Given the description of an element on the screen output the (x, y) to click on. 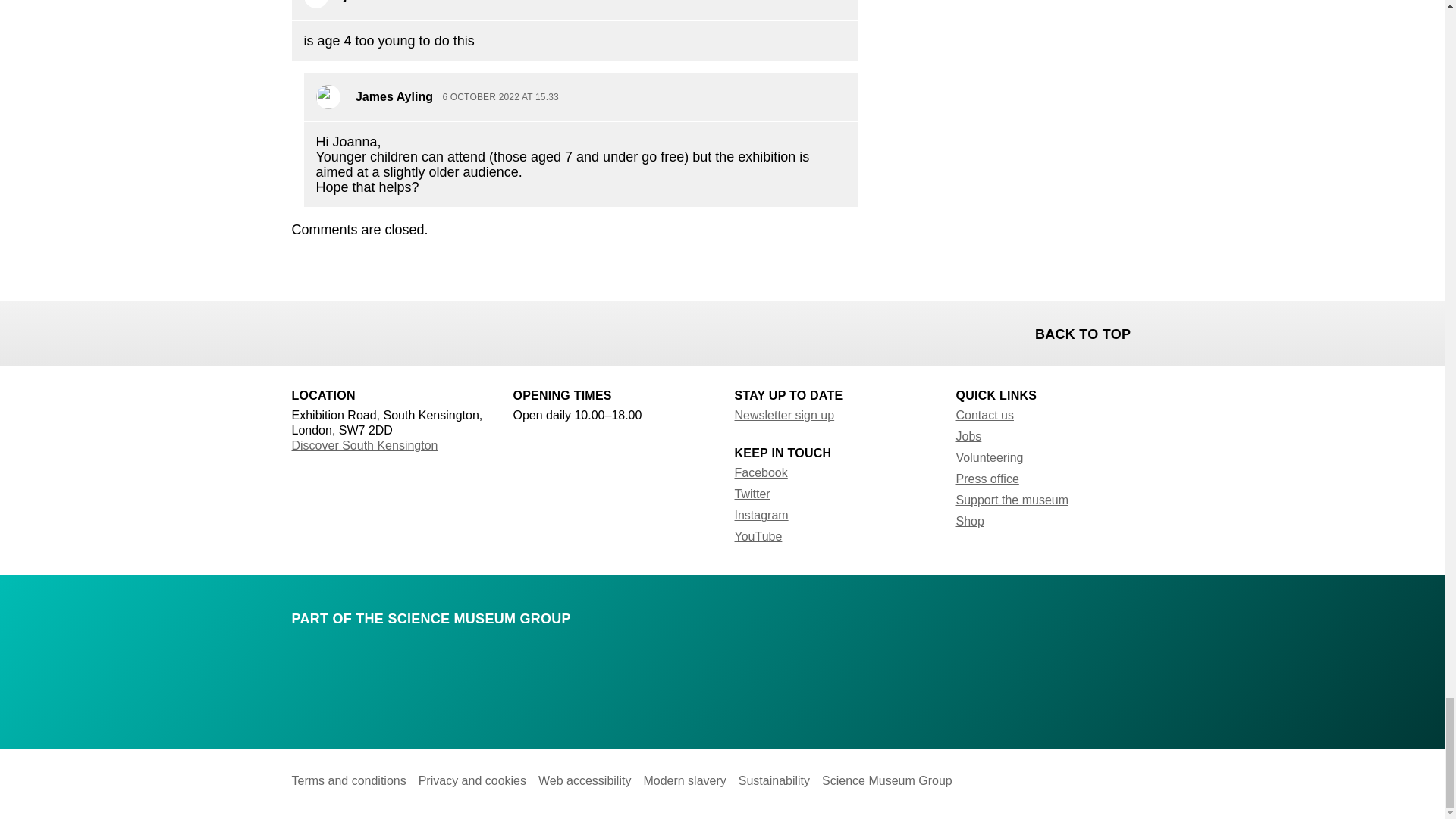
6 OCTOBER 2022 AT 11.44 (449, 0)
Share by email (384, 330)
6 OCTOBER 2022 AT 15.33 (500, 97)
Share on facebook (304, 330)
Tweet this (344, 330)
